Given the description of an element on the screen output the (x, y) to click on. 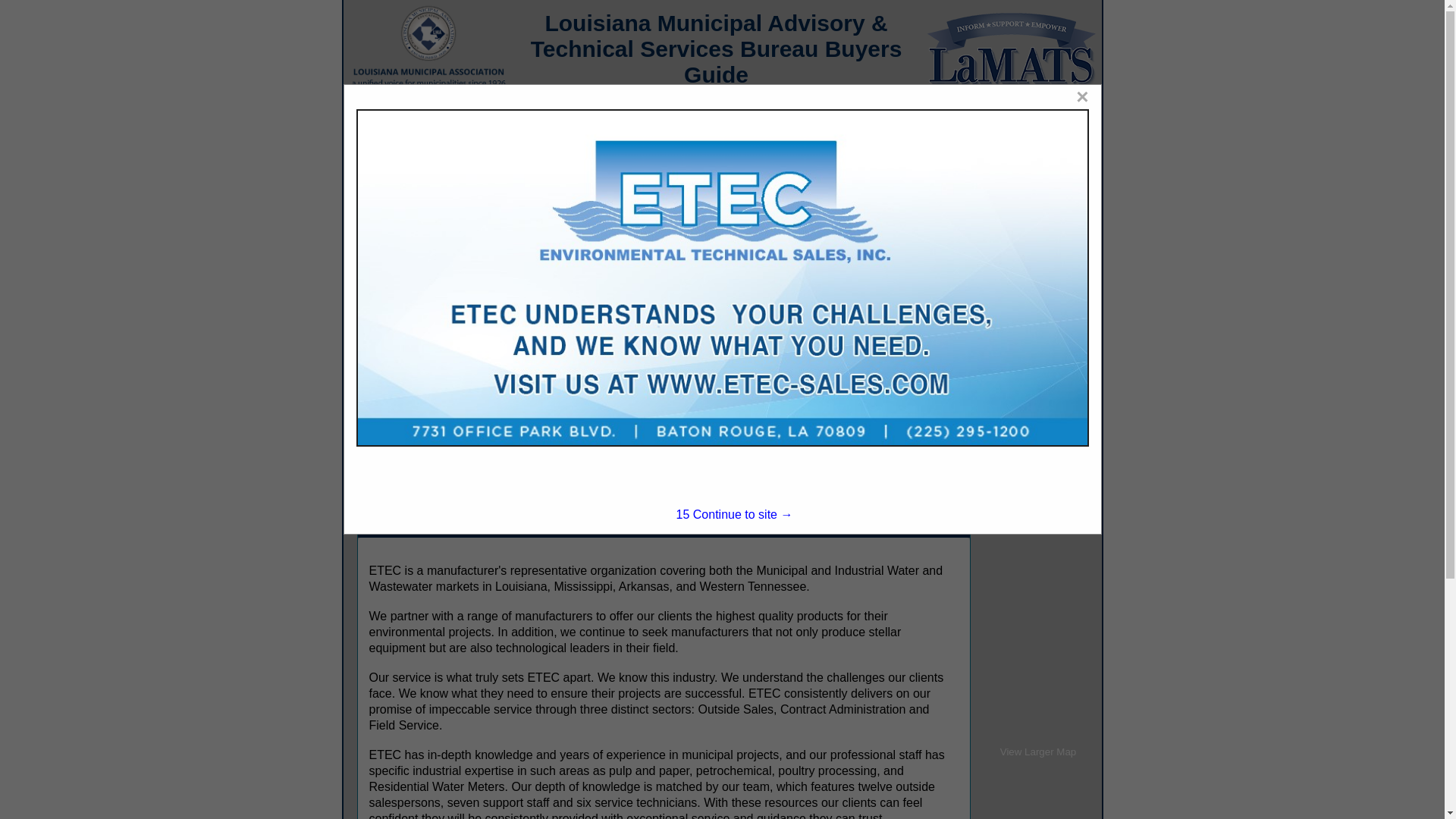
Contact (535, 113)
Explore (449, 113)
Home (374, 113)
View Larger Map (1038, 751)
